Given the description of an element on the screen output the (x, y) to click on. 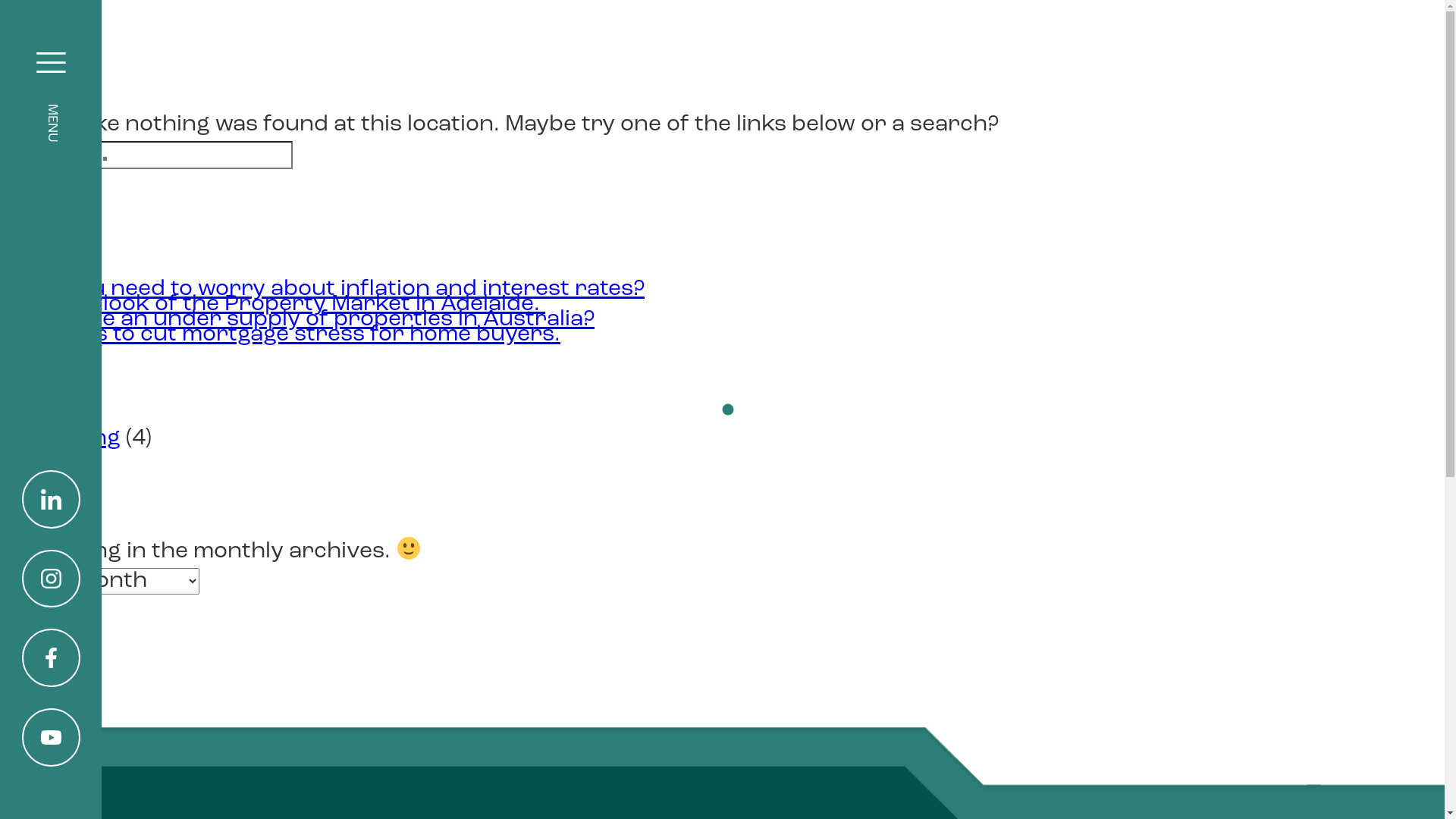
Search Element type: text (45, 186)
5 Ways to cut mortgage stress for home buyers. Element type: text (295, 334)
Do you need to worry about inflation and interest rates? Element type: text (337, 289)
Housing Element type: text (75, 438)
An outlook of the Property Market in Adelaide.  Element type: text (287, 304)
Is there an under supply of properties in Australia? Element type: text (312, 319)
